Given the description of an element on the screen output the (x, y) to click on. 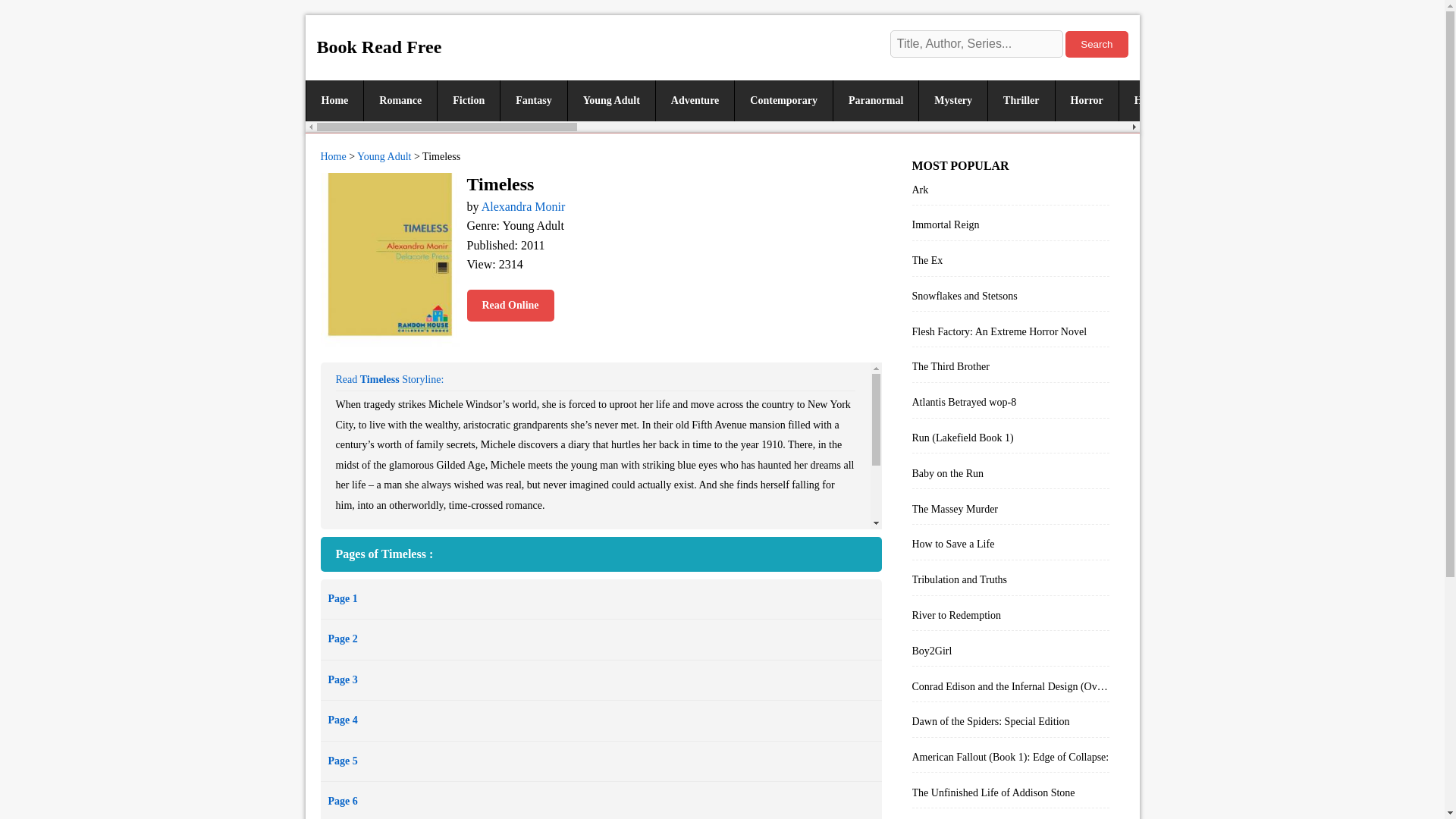
Suspense (1229, 100)
Paranormal (875, 100)
Horror (1086, 100)
Mystery (952, 100)
Fantasy (532, 100)
Adventure (695, 100)
Search (1095, 44)
Historical (1155, 100)
Thriller (1020, 100)
Christian (1303, 100)
Other (1369, 100)
Romance (399, 100)
Book Read Free (379, 46)
Contemporary (782, 100)
Young Adult (611, 100)
